Given the description of an element on the screen output the (x, y) to click on. 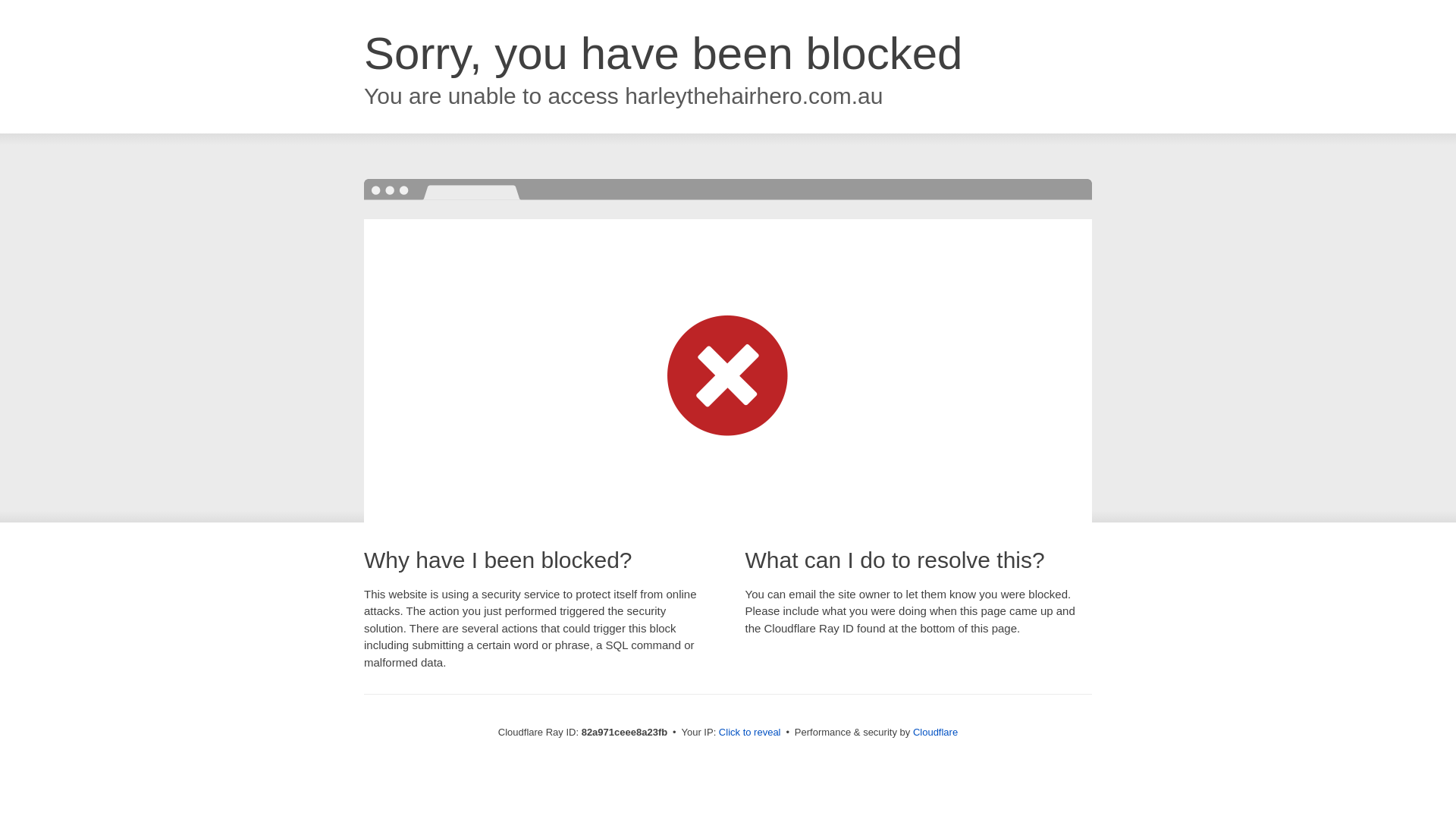
Cloudflare Element type: text (935, 731)
Click to reveal Element type: text (749, 732)
